Given the description of an element on the screen output the (x, y) to click on. 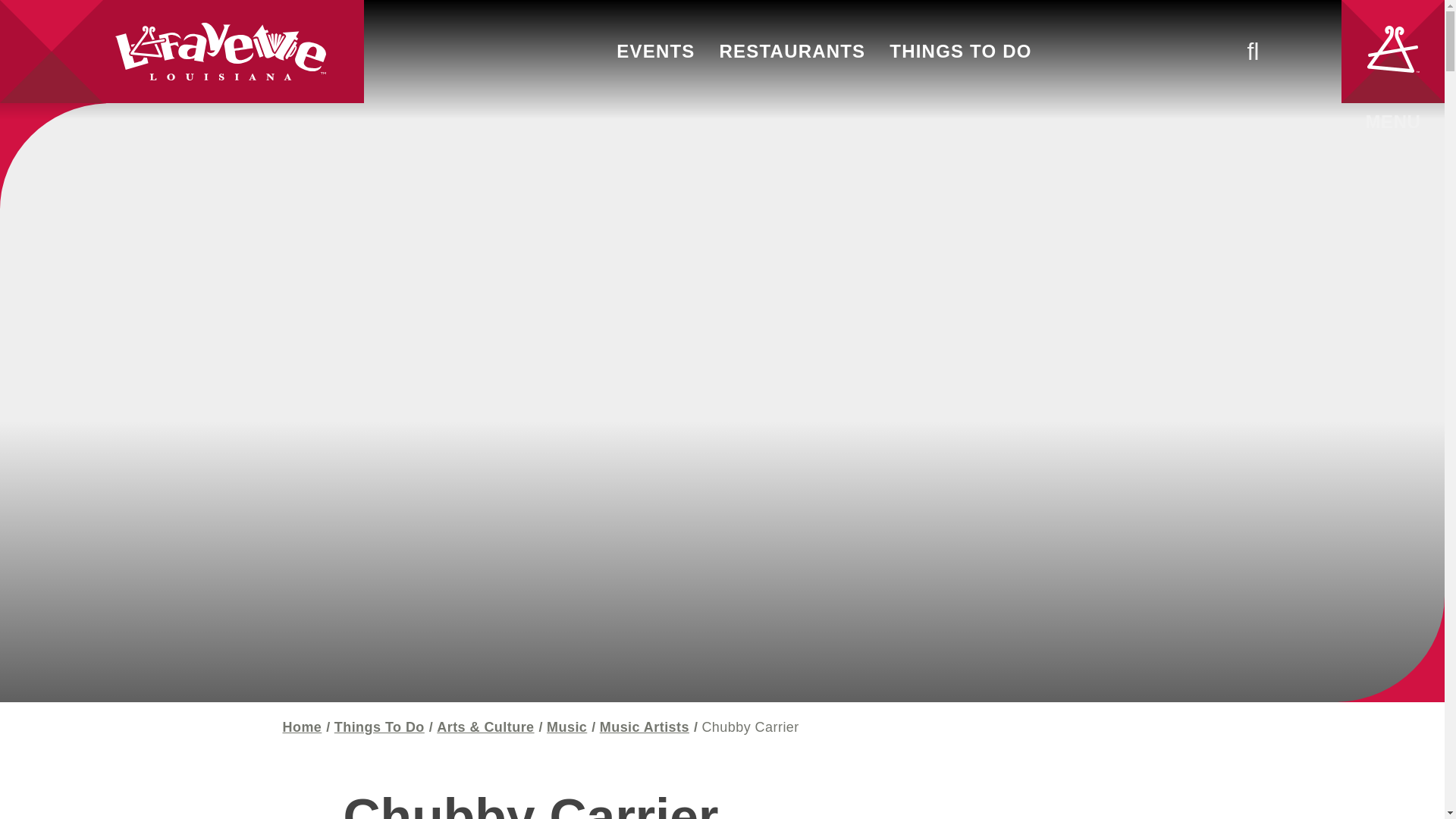
THINGS TO DO (959, 51)
EVENTS (654, 51)
RESTAURANTS (792, 51)
